Given the description of an element on the screen output the (x, y) to click on. 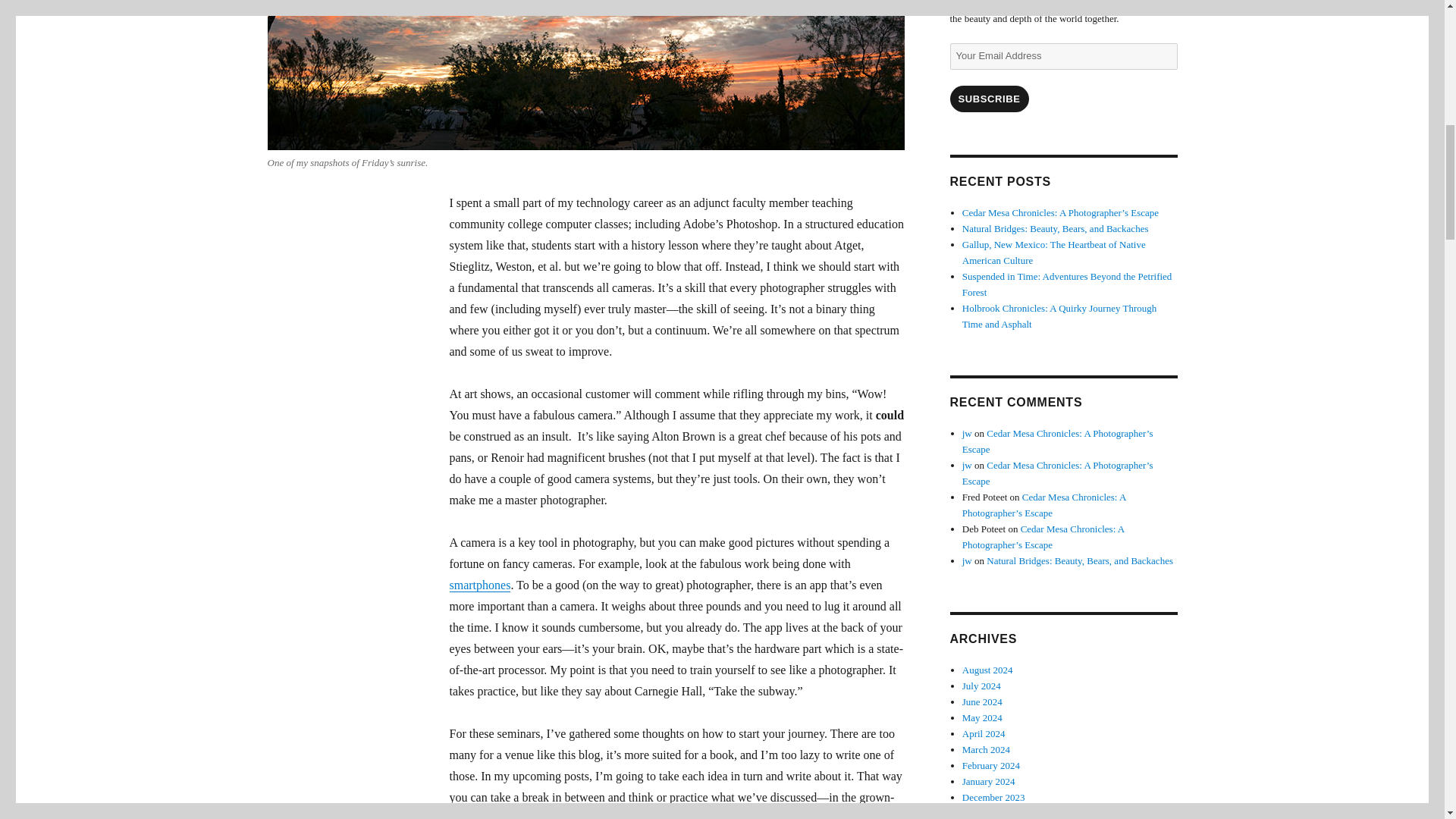
Gallup, New Mexico: The Heartbeat of Native American Culture (1053, 252)
Suspended in Time: Adventures Beyond the Petrified Forest (1067, 284)
smartphones (479, 584)
Natural Bridges: Beauty, Bears, and Backaches (1055, 228)
SUBSCRIBE (988, 98)
